Given the description of an element on the screen output the (x, y) to click on. 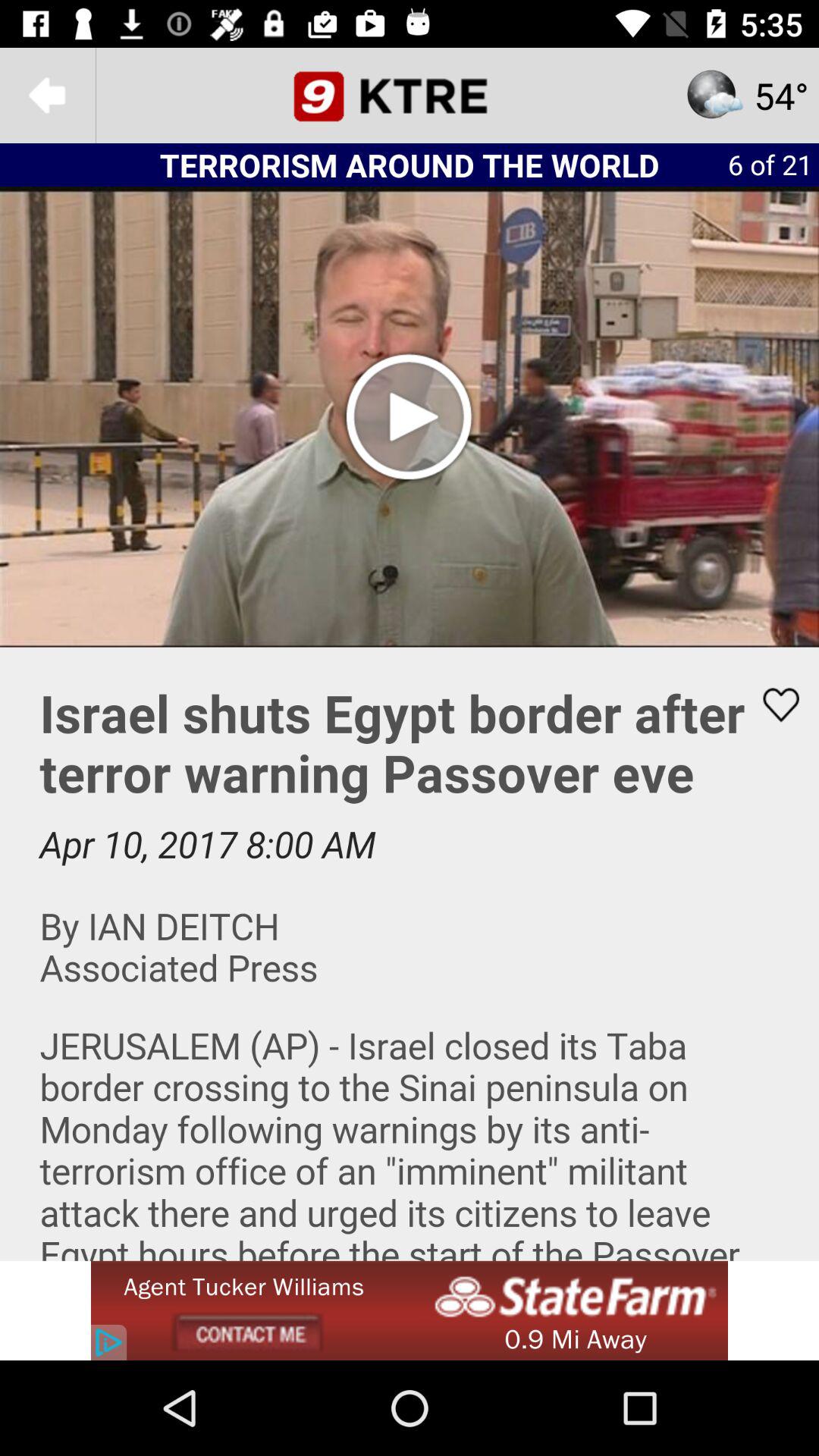
make the video a favorite (771, 704)
